Given the description of an element on the screen output the (x, y) to click on. 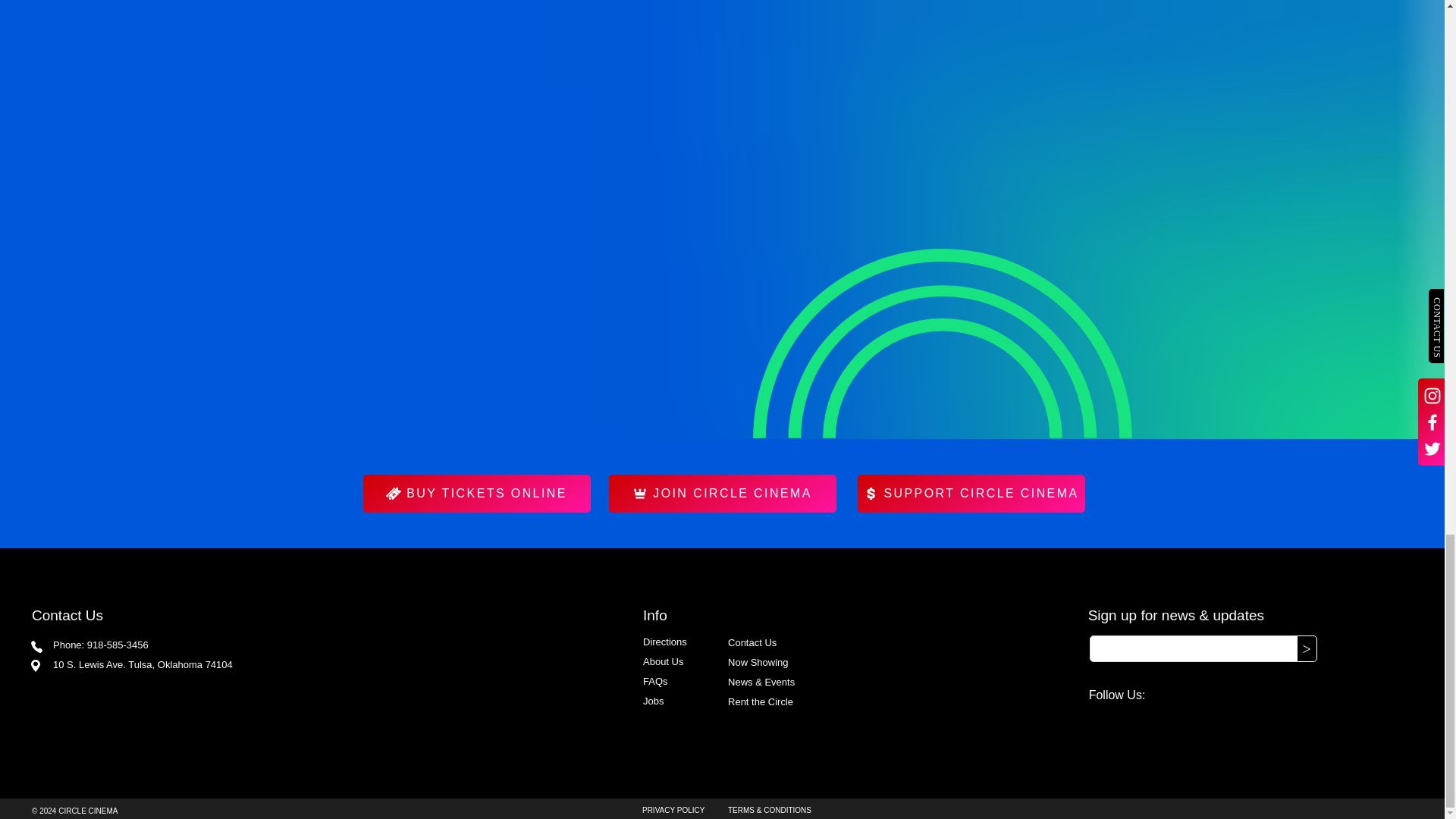
BUY TICKETS ONLINE (475, 493)
JOIN CIRCLE CINEMA (721, 493)
SUPPORT CIRCLE CINEMA (970, 493)
